Given the description of an element on the screen output the (x, y) to click on. 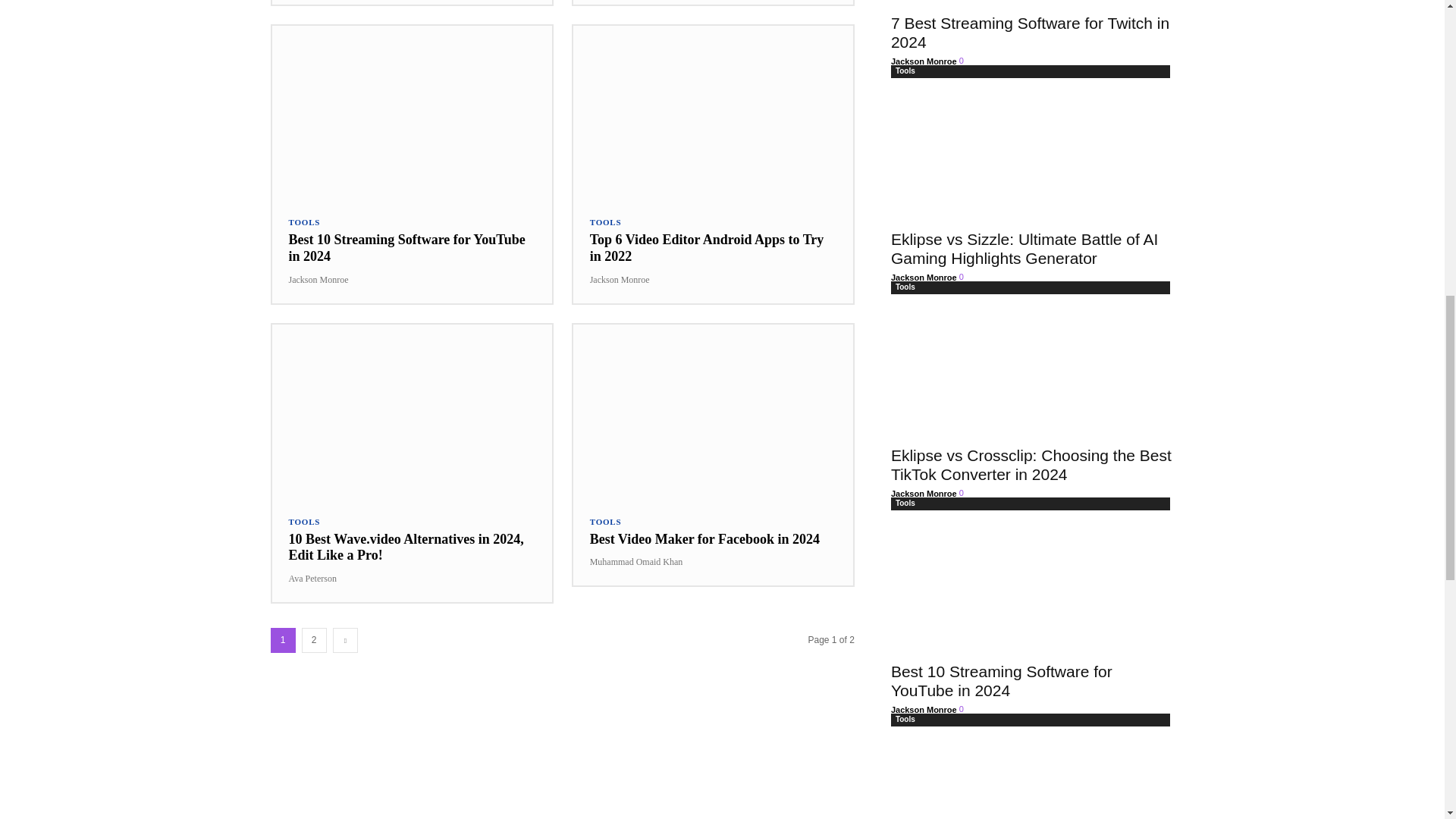
Best 10 Streaming Software for YouTube in 2024 (410, 112)
Best 10 Streaming Software for YouTube in 2024 (406, 247)
Top 6 Video Editor Android Apps to Try in 2022 (706, 247)
10 Best Wave.video Alternatives in 2024, Edit Like a Pro! (410, 410)
Top 6 Video Editor Android Apps to Try in 2022 (713, 112)
